Given the description of an element on the screen output the (x, y) to click on. 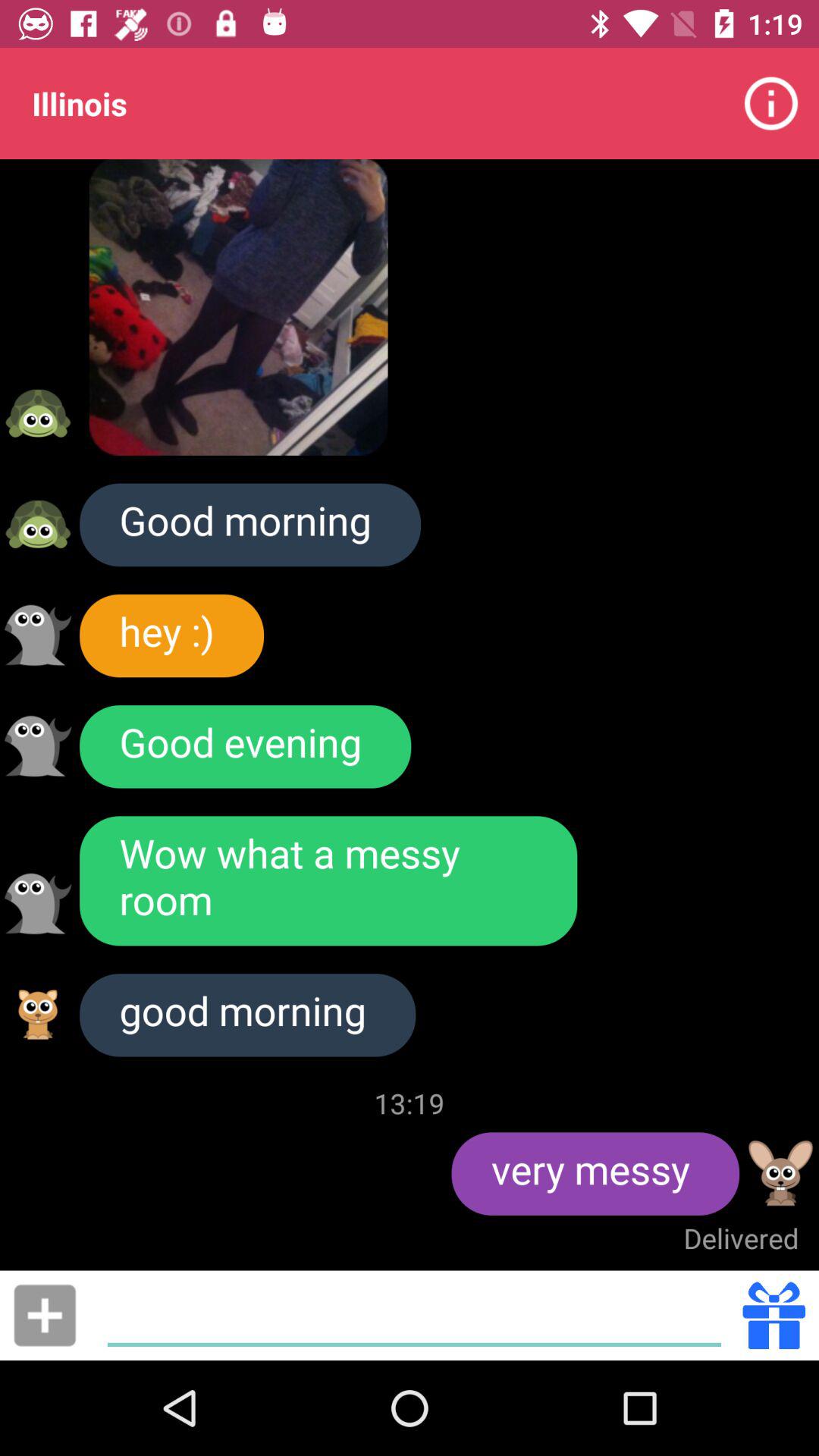
choose item below good morning  item (44, 1315)
